Given the description of an element on the screen output the (x, y) to click on. 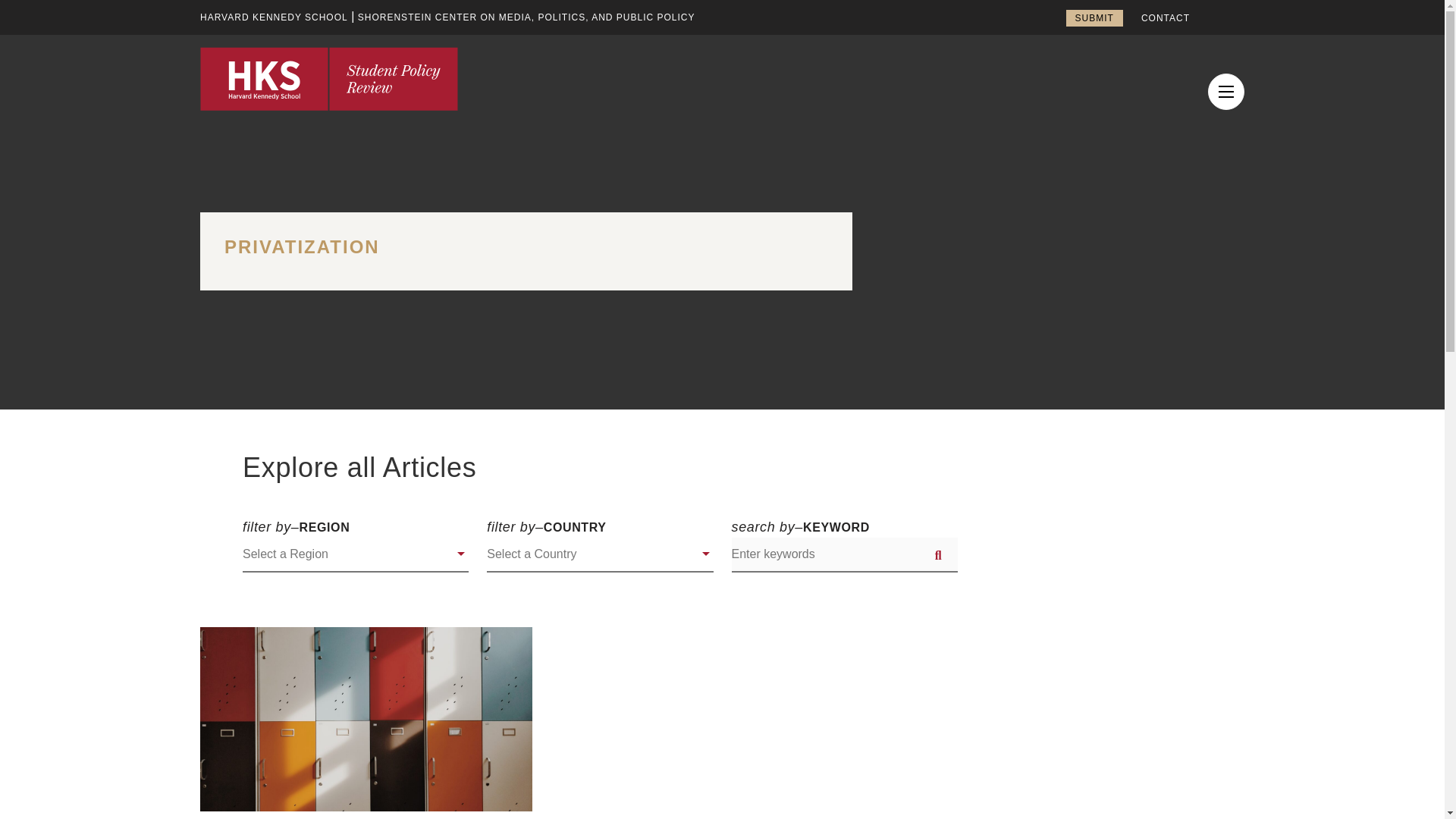
HKS Student Policy Review (329, 78)
SHORENSTEIN CENTER ON MEDIA, POLITICS, AND PUBLIC POLICY (526, 17)
Harvard Kennedy School (273, 17)
HARVARD KENNEDY SCHOOL (273, 17)
Shorenstein Center on Media, Politics, and Public Policy (526, 17)
CONTACT (1165, 18)
SUBMIT (1093, 17)
